Given the description of an element on the screen output the (x, y) to click on. 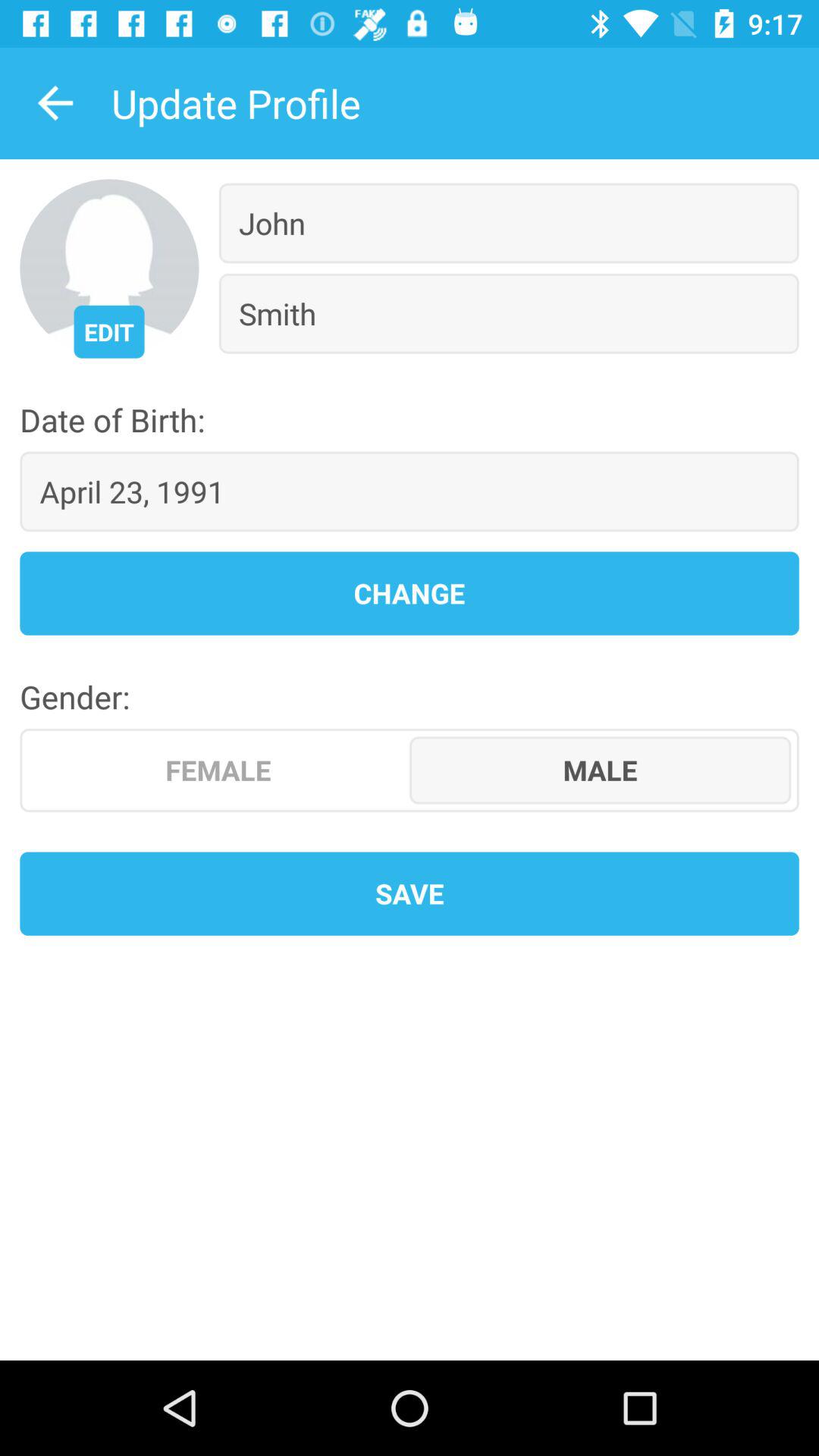
open icon above save icon (600, 770)
